Given the description of an element on the screen output the (x, y) to click on. 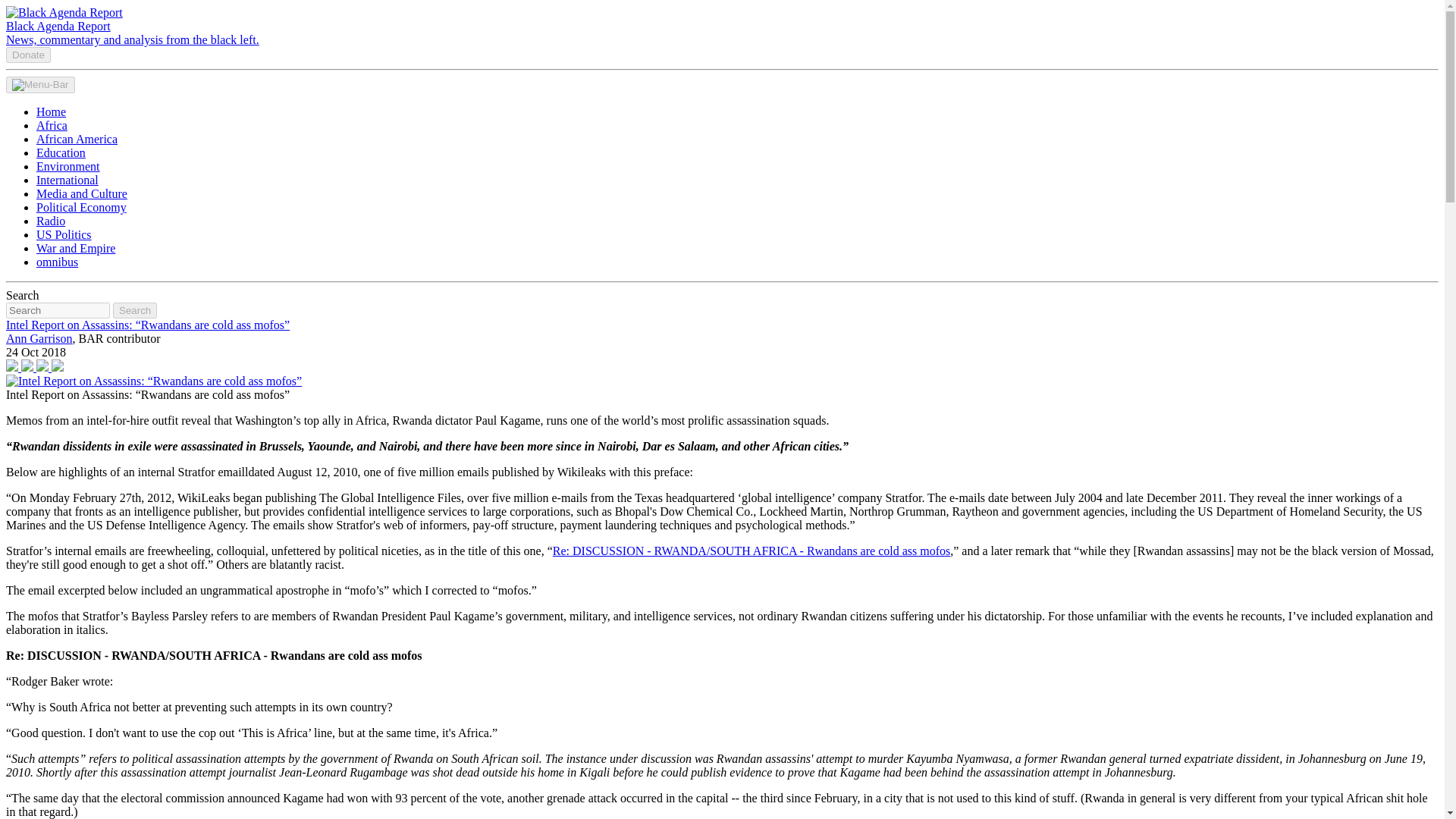
Radio (50, 220)
Political Economy (81, 206)
Environment (68, 165)
Search (135, 310)
Home (50, 111)
Donate (27, 54)
US Politics (63, 234)
Media and Culture (82, 193)
Africa (51, 124)
Education (60, 152)
War and Empire (75, 247)
African America (76, 138)
Donate (27, 53)
Ann Garrison (38, 338)
omnibus (57, 261)
